Given the description of an element on the screen output the (x, y) to click on. 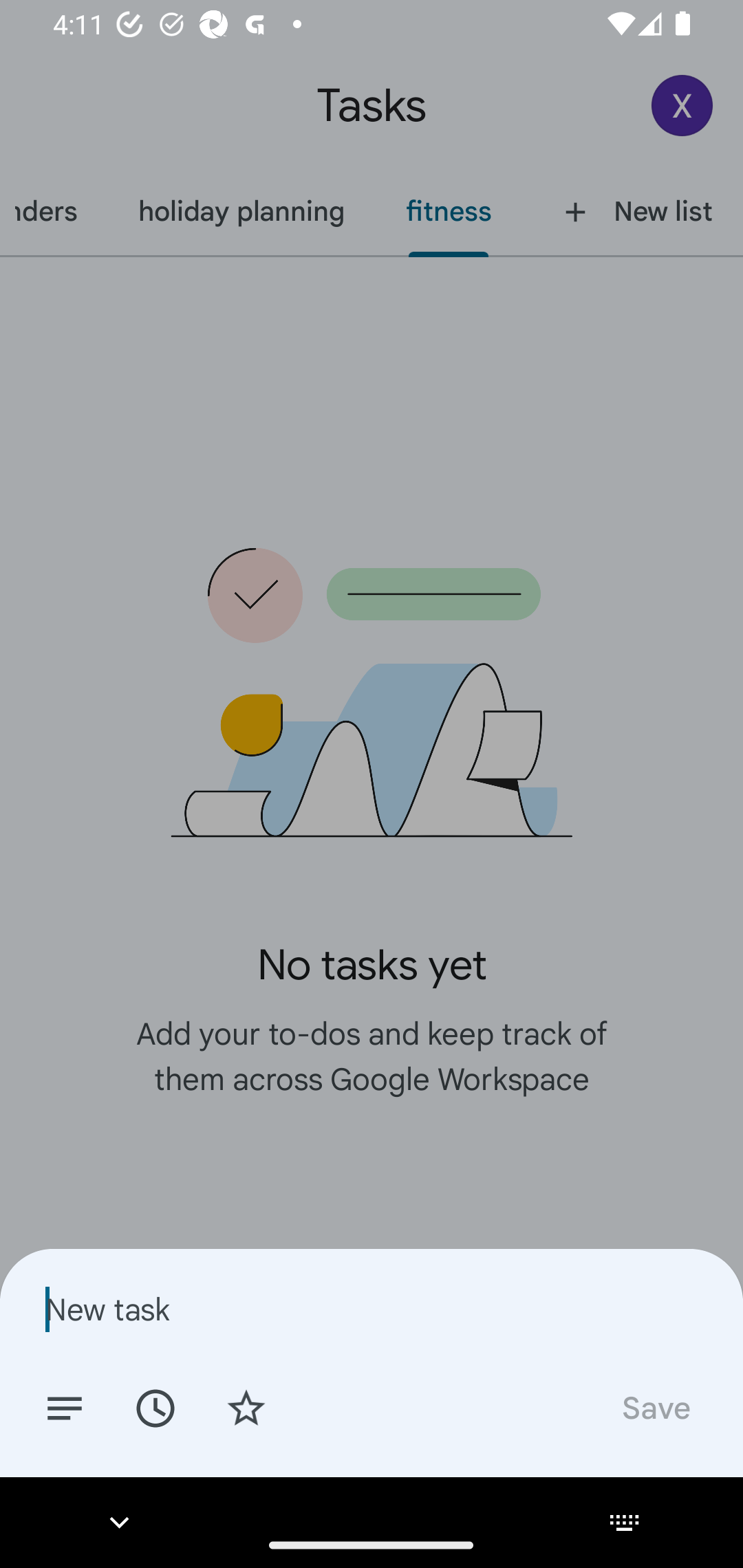
New task (371, 1308)
Save (655, 1407)
Add details (64, 1407)
Set date/time (154, 1407)
Add star (245, 1407)
